Given the description of an element on the screen output the (x, y) to click on. 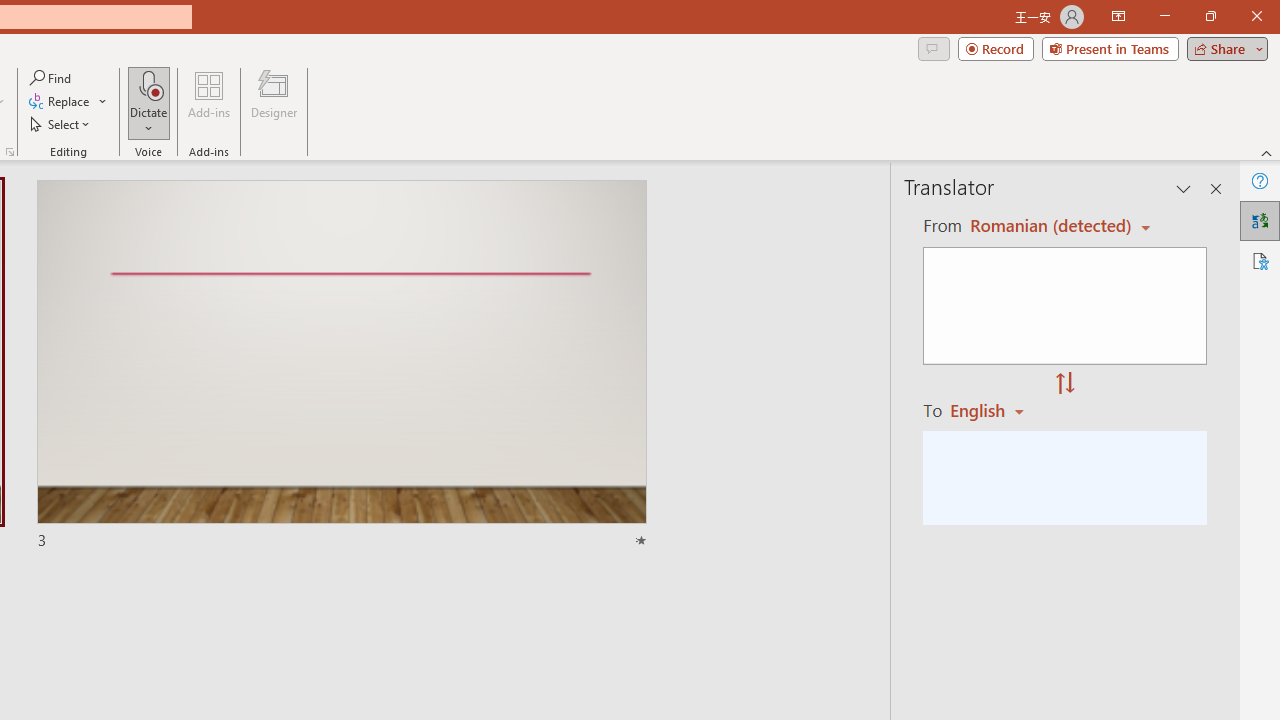
Swap "from" and "to" languages. (1065, 383)
Find... (51, 78)
Czech (detected) (1047, 225)
